Given the description of an element on the screen output the (x, y) to click on. 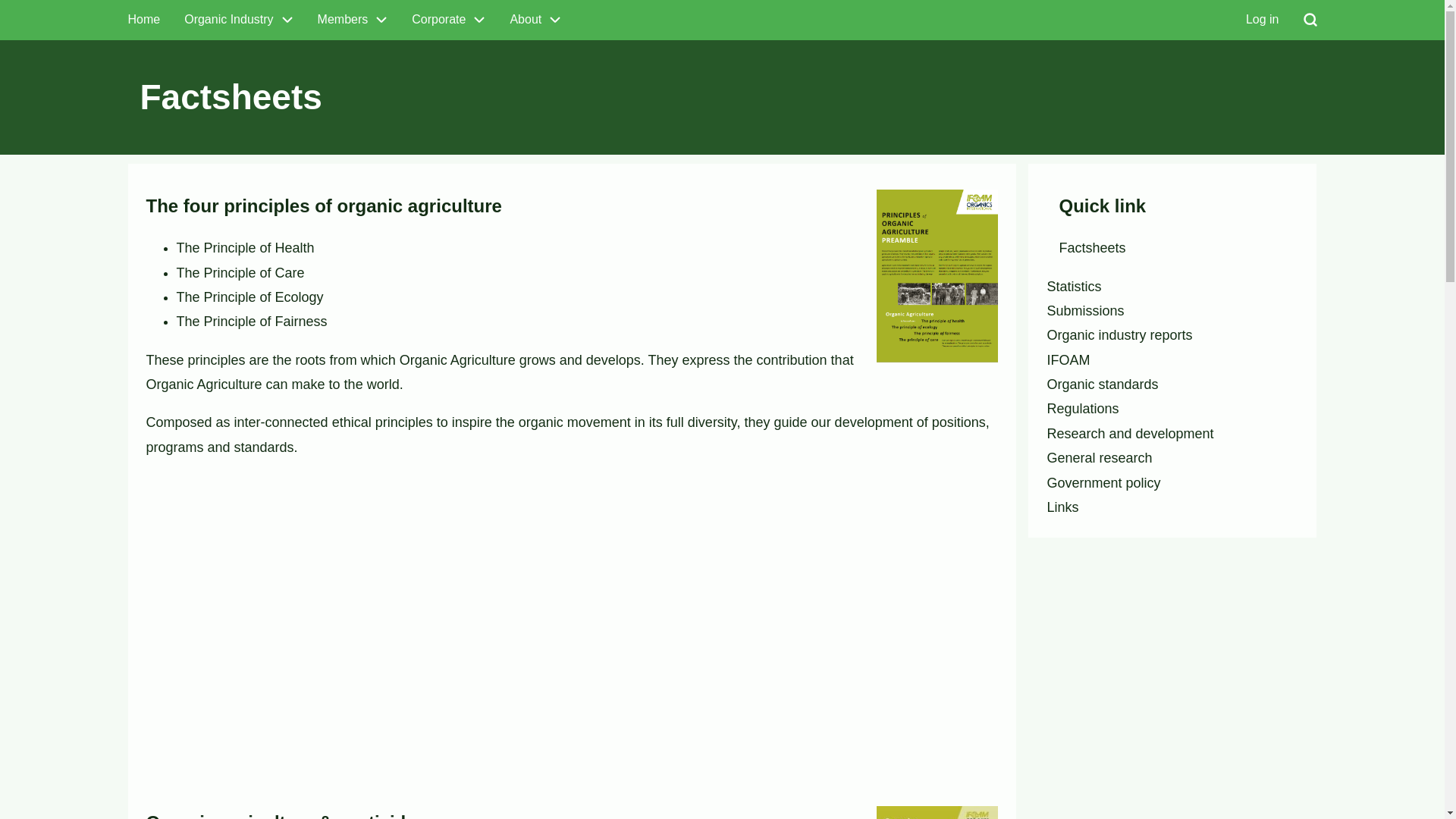
Research and development Element type: text (1129, 433)
YouTube video player Element type: hover (387, 609)
. Element type: text (1224, 46)
Submissions Element type: text (1084, 310)
Statistics Element type: text (1073, 286)
Organic standards Element type: text (1101, 384)
Regulations Element type: text (1082, 408)
Members Element type: text (352, 20)
Corporate Element type: text (448, 20)
Organic industry reports Element type: text (1119, 334)
IFOAM Element type: text (1067, 359)
Organic Industry Element type: text (238, 20)
Links Element type: text (1062, 506)
Factsheets Element type: text (1091, 247)
Home Element type: text (143, 20)
Log in Element type: text (1262, 20)
General research Element type: text (1098, 457)
About Element type: text (535, 20)
Government policy Element type: text (1103, 482)
Skip to main content Element type: text (0, 0)
